Given the description of an element on the screen output the (x, y) to click on. 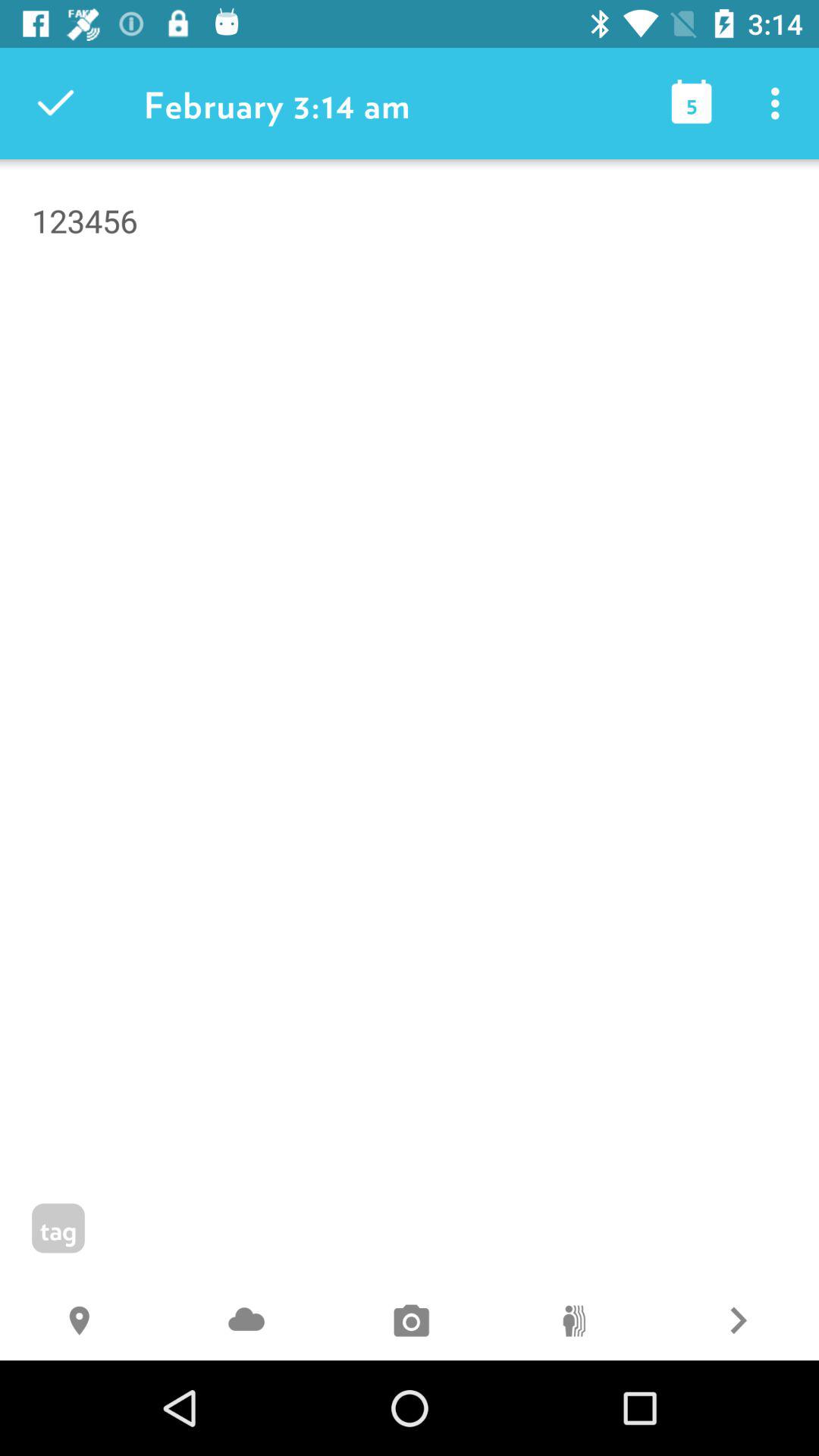
open item below 123456 icon (245, 1322)
